Given the description of an element on the screen output the (x, y) to click on. 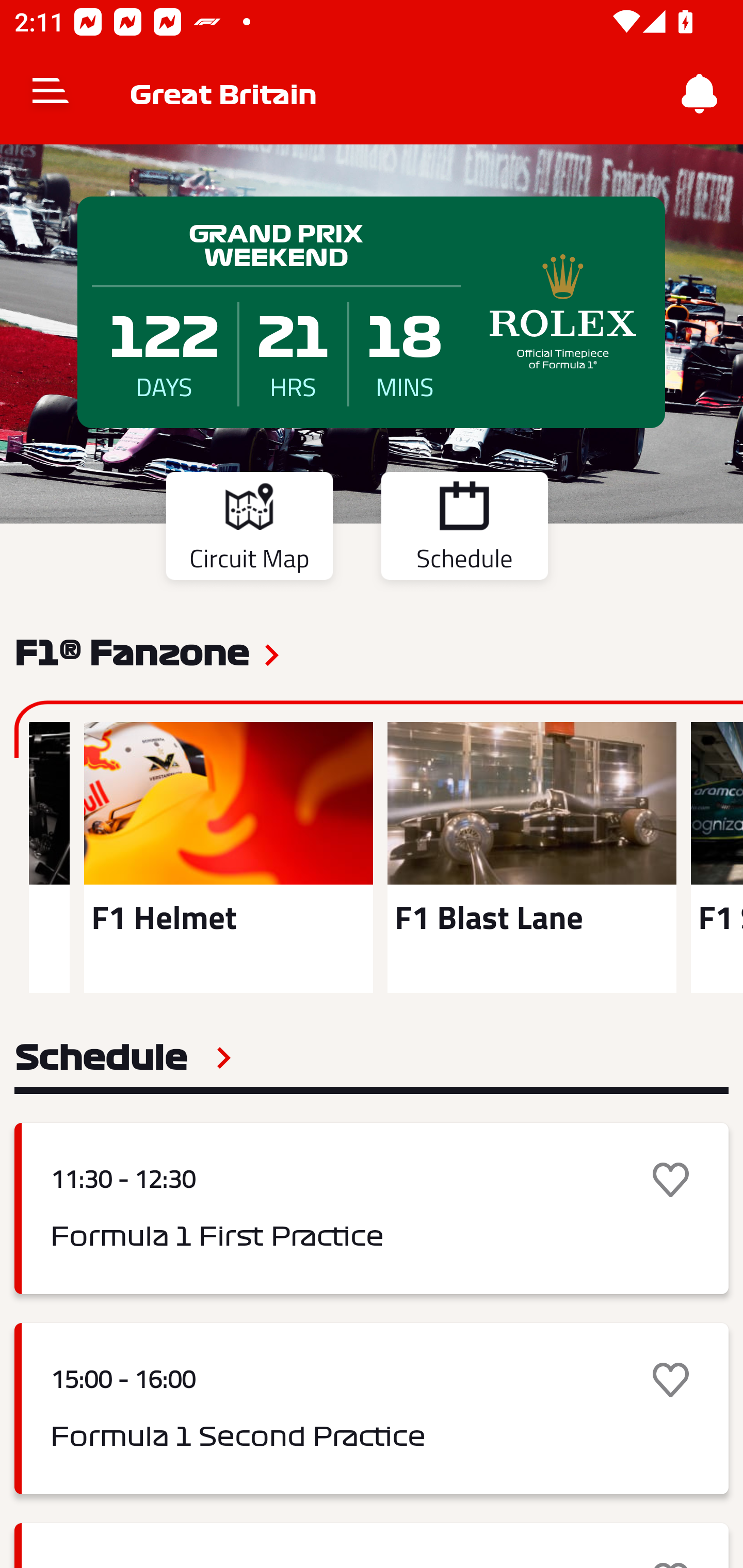
Navigate up (50, 93)
Notifications (699, 93)
Circuit Map (249, 528)
Schedule (464, 528)
F1® Fanzone (131, 651)
F1 Helmet (227, 857)
F1 Blast Lane (531, 857)
Schedule (122, 1057)
11:30 - 12:30 Formula 1 First Practice (371, 1207)
15:00 - 16:00 Formula 1 Second Practice (371, 1408)
